Given the description of an element on the screen output the (x, y) to click on. 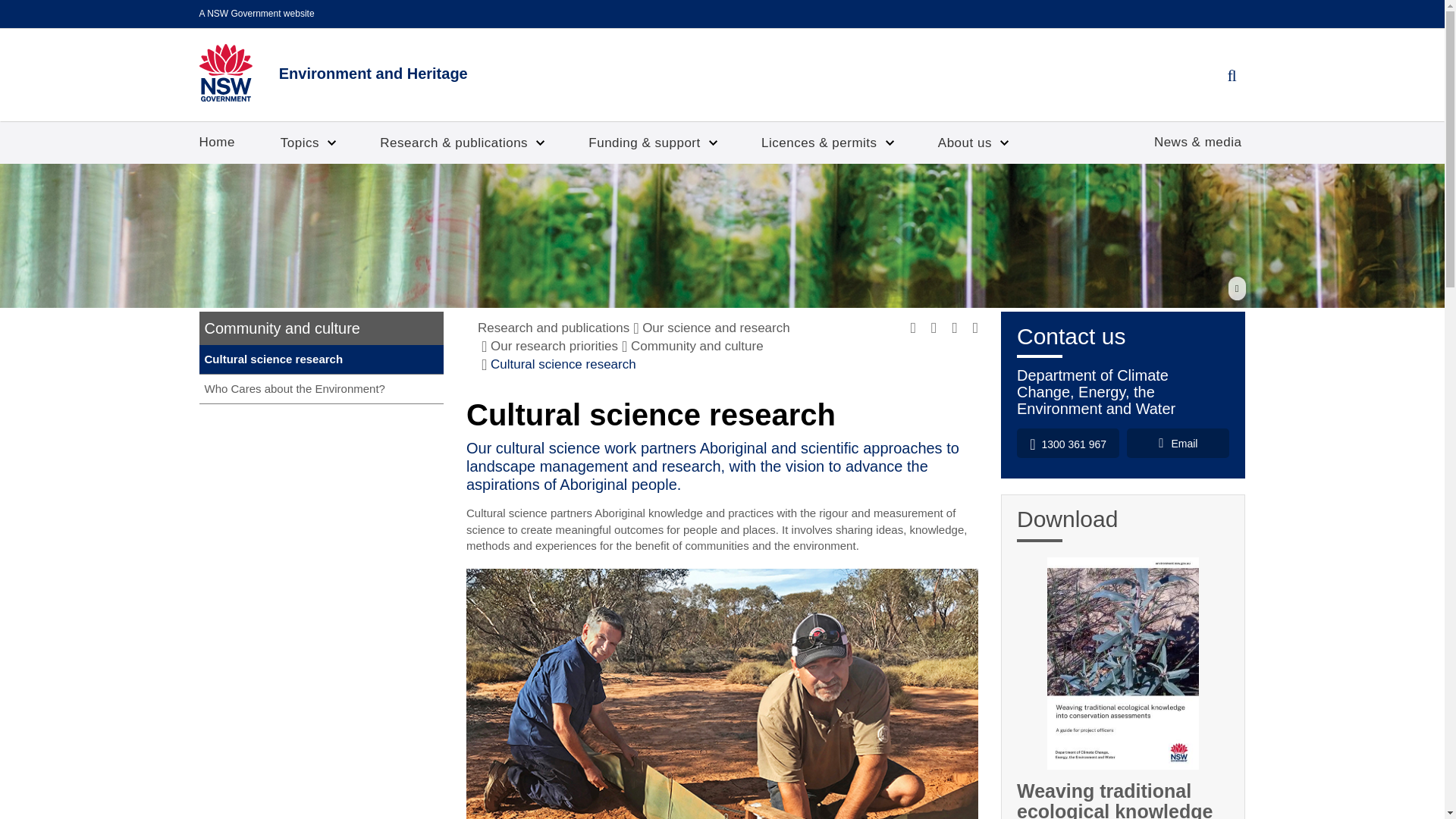
Topics (306, 142)
Home (216, 142)
Show search overlay (1230, 76)
Environment and Heritage (332, 72)
Skip to main content (10, 3)
